Given the description of an element on the screen output the (x, y) to click on. 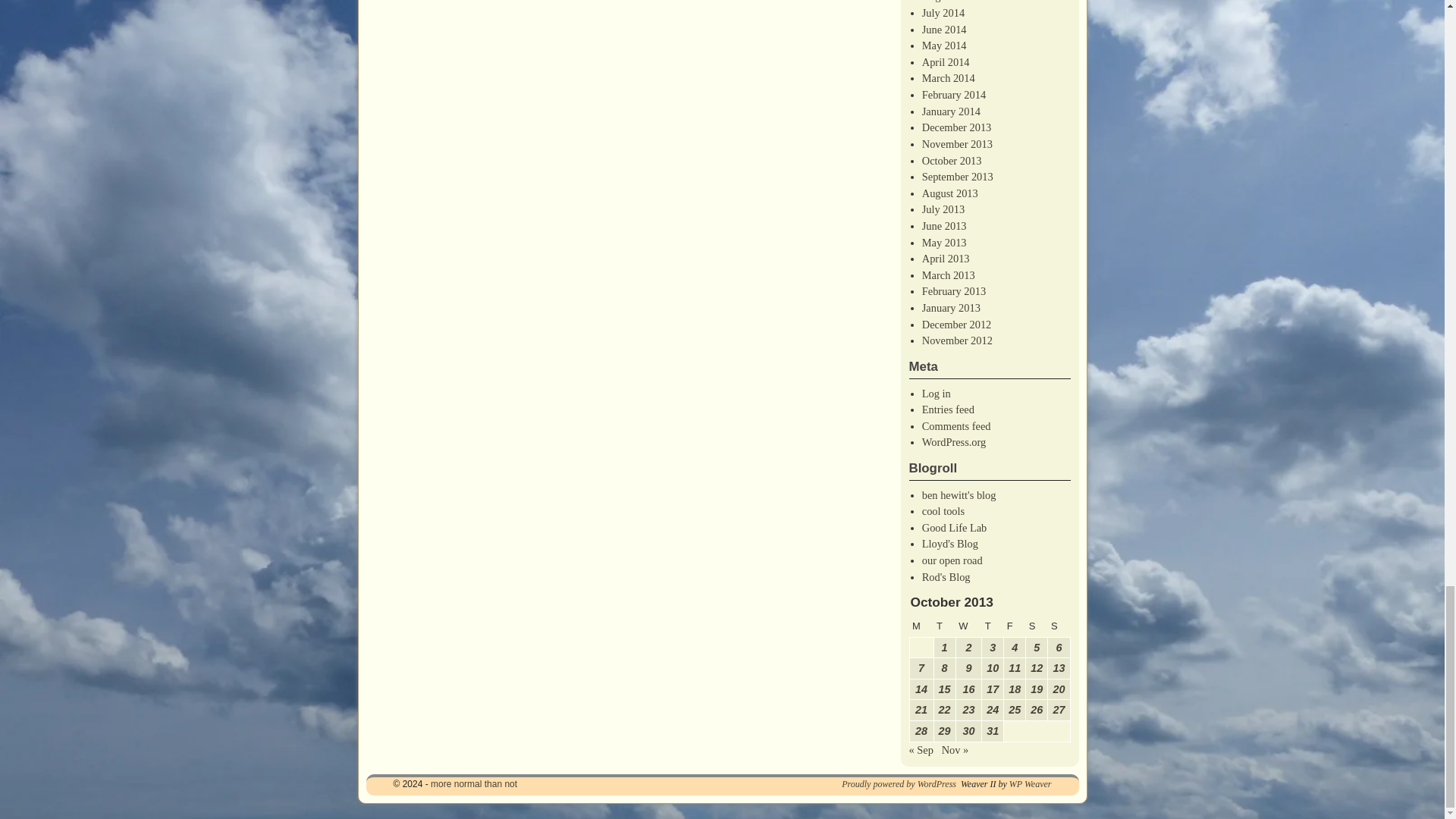
creative living in New Mexico (954, 527)
Monday (920, 626)
